Given the description of an element on the screen output the (x, y) to click on. 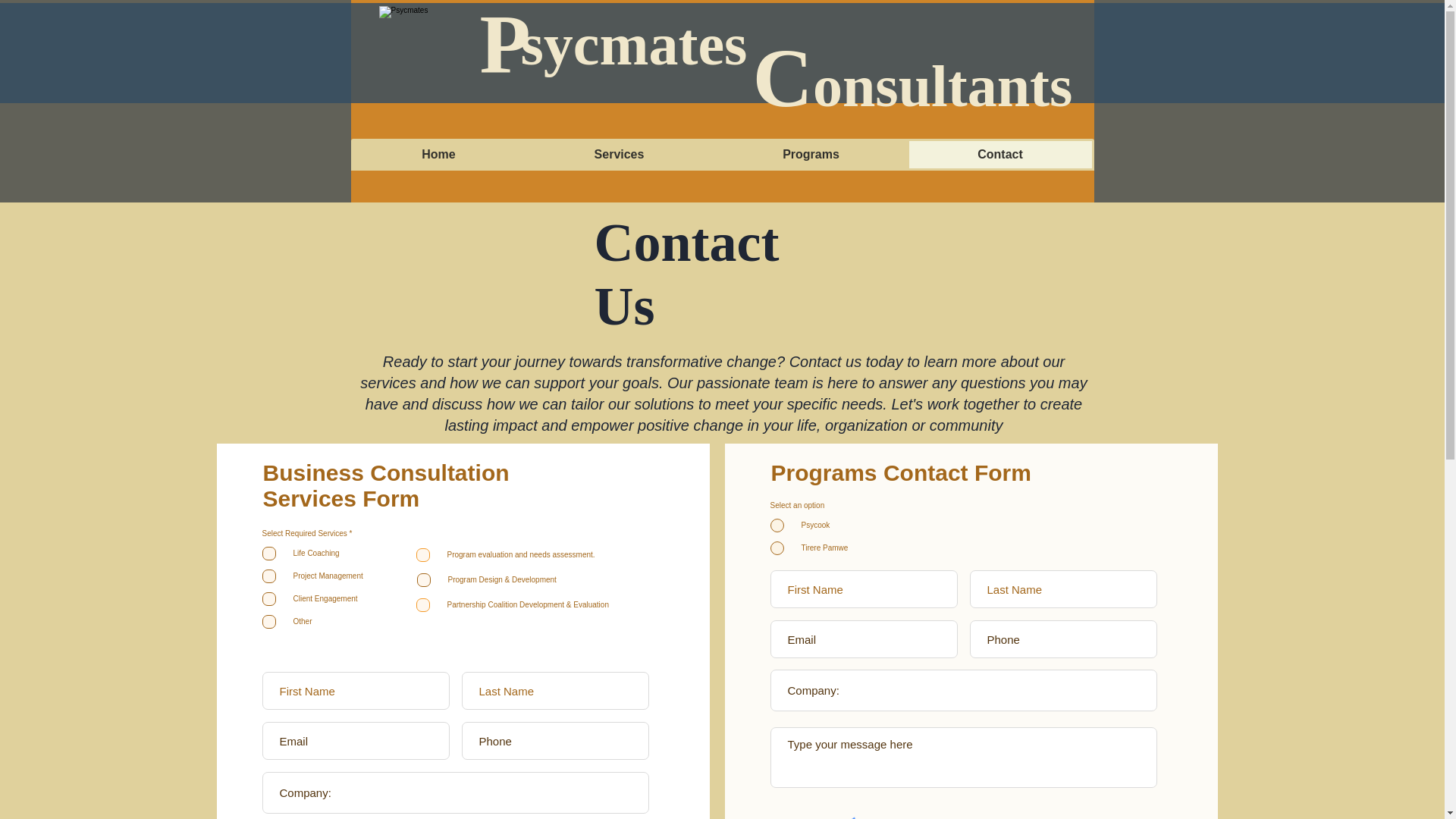
Home (438, 154)
Services (618, 154)
sycmates (632, 43)
Consultants (911, 85)
Contact (1000, 154)
